Given the description of an element on the screen output the (x, y) to click on. 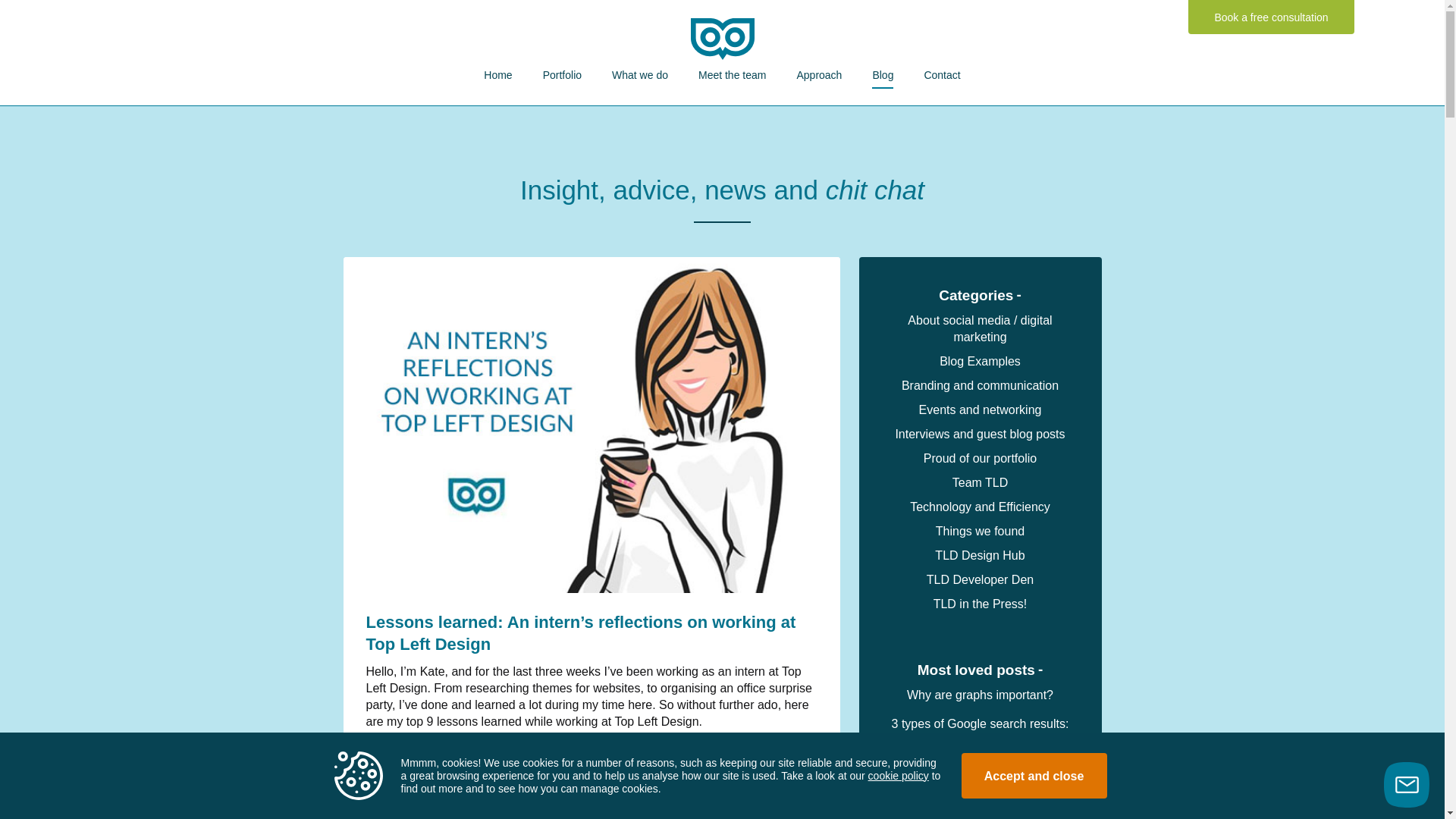
Home (497, 74)
Things we found (980, 530)
Team TLD (980, 481)
Meet the team (732, 74)
Technology and Efficiency (979, 506)
Blog Examples (979, 360)
Proud of our portfolio (979, 458)
Contact (941, 74)
TLD Developer Den (979, 579)
Events and networking (980, 409)
Branding and communication (979, 385)
Approach (818, 74)
TLD Design Hub (979, 554)
Interviews and guest blog posts (979, 433)
Book a free consultation (1271, 17)
